Given the description of an element on the screen output the (x, y) to click on. 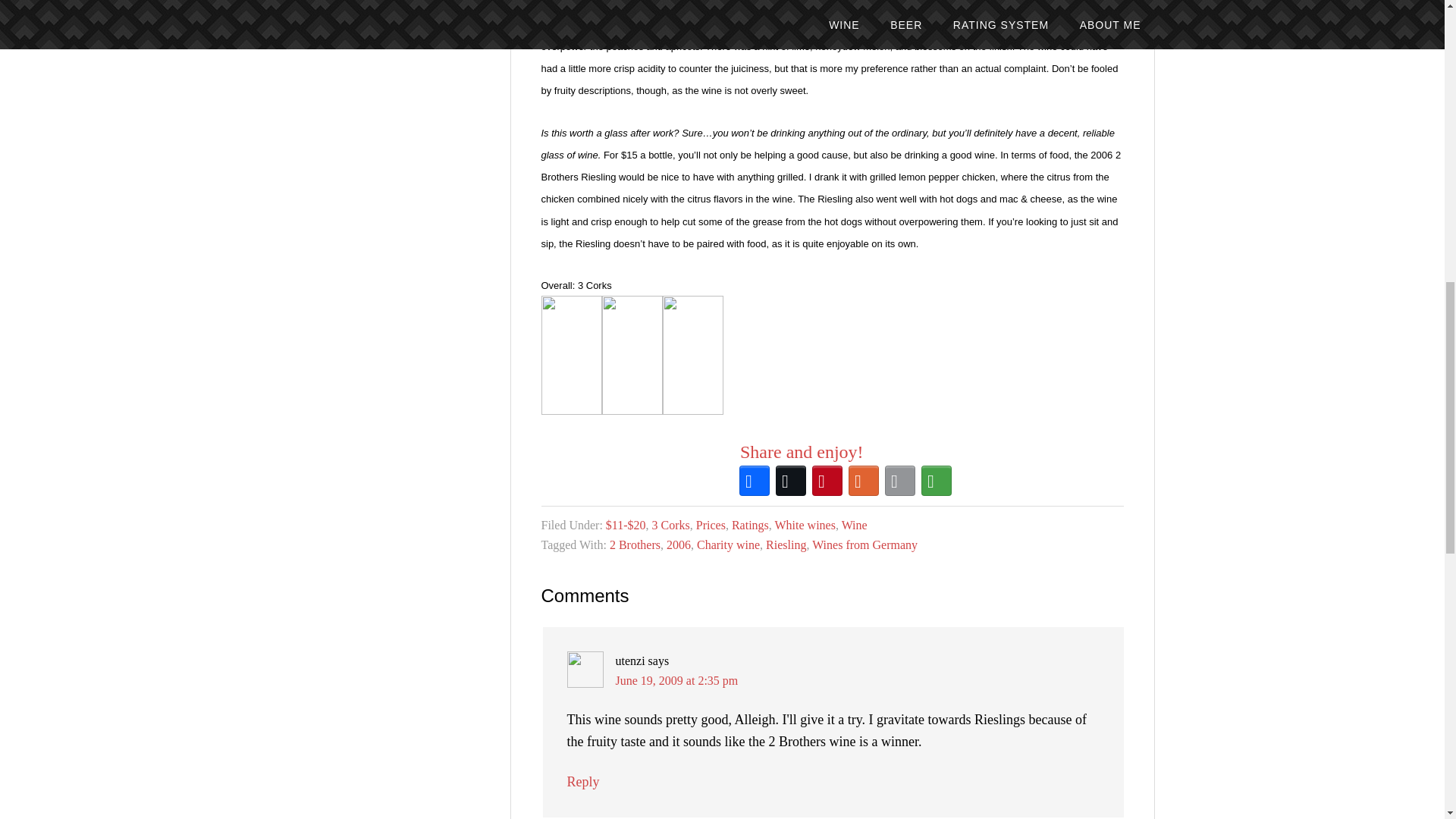
Email This (900, 480)
Yummly (863, 480)
More Options (936, 480)
Pinterest (827, 480)
Facebook (754, 480)
